Given the description of an element on the screen output the (x, y) to click on. 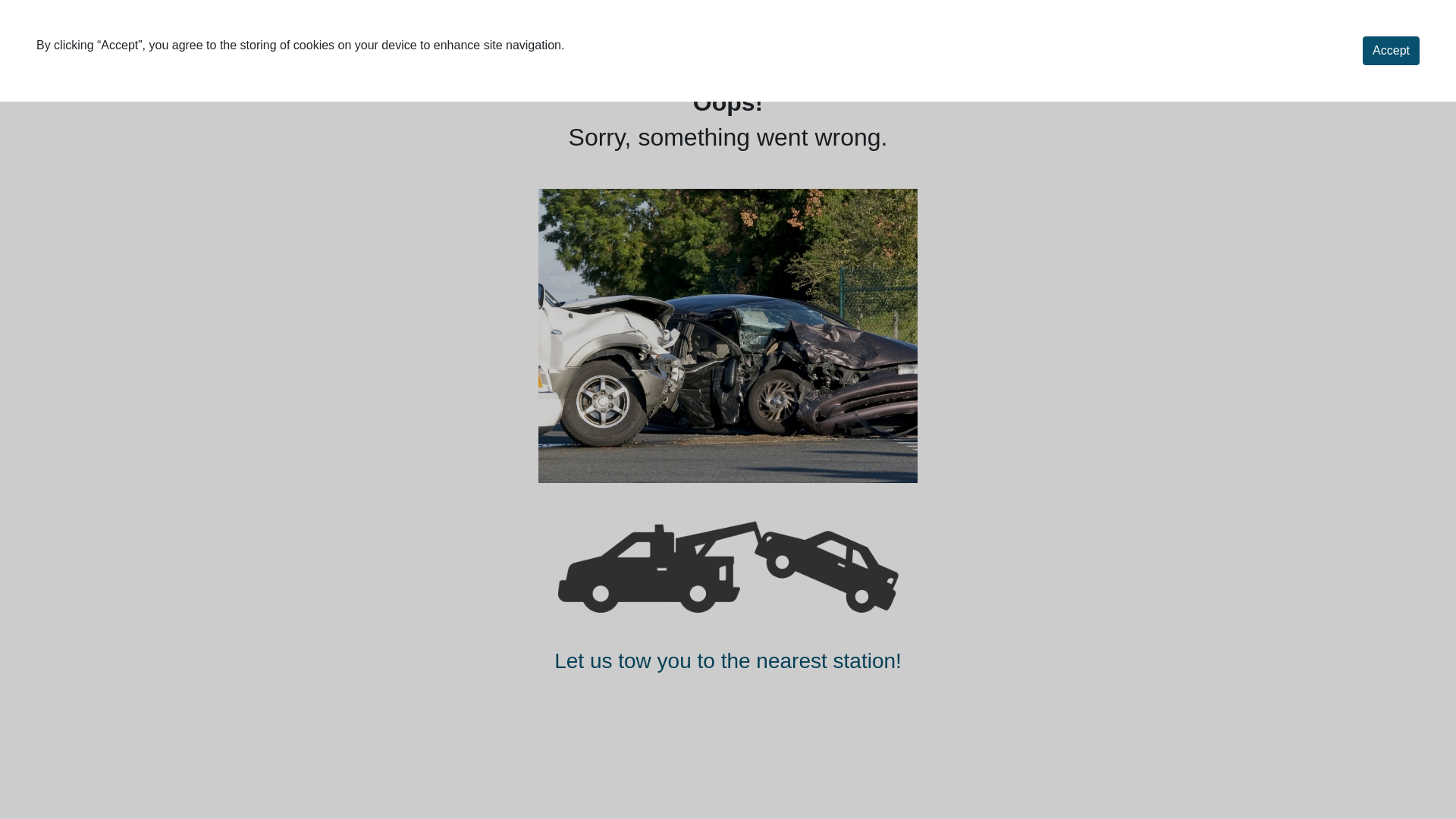
500 Element type: hover (727, 565)
Let us tow you to the nearest station! Element type: text (727, 661)
AutoExpert Element type: hover (100, 42)
Accept Element type: text (1390, 50)
500 Element type: hover (727, 335)
